Given the description of an element on the screen output the (x, y) to click on. 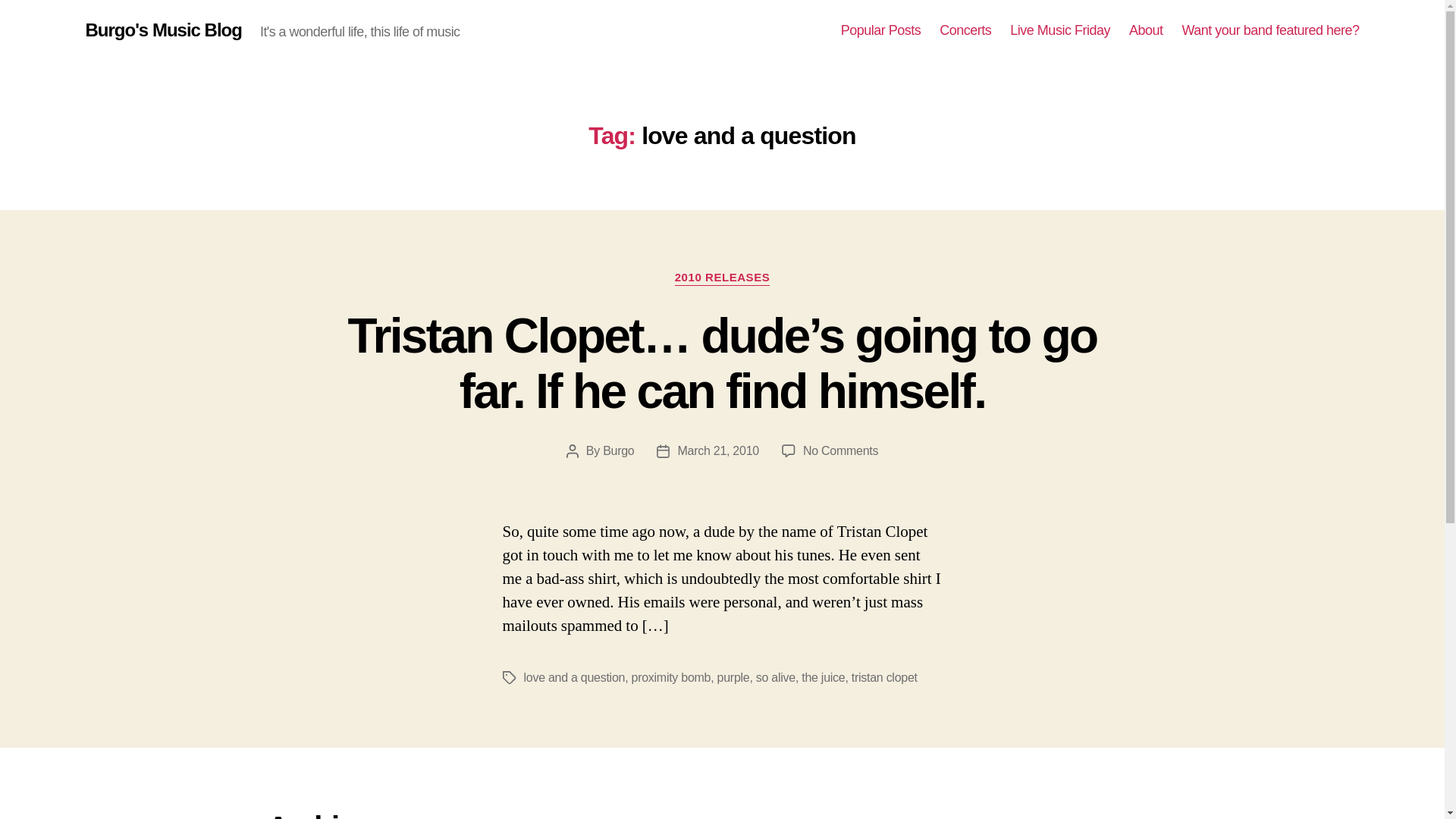
Burgo's Music Blog (162, 30)
love and a question (573, 676)
March 21, 2010 (717, 450)
purple (733, 676)
About (1146, 30)
Popular Posts (881, 30)
proximity bomb (671, 676)
so alive (774, 676)
Concerts (965, 30)
tristan clopet (884, 676)
Want your band featured here? (1269, 30)
the juice (823, 676)
Burgo (617, 450)
2010 RELEASES (722, 278)
Live Music Friday (1059, 30)
